Given the description of an element on the screen output the (x, y) to click on. 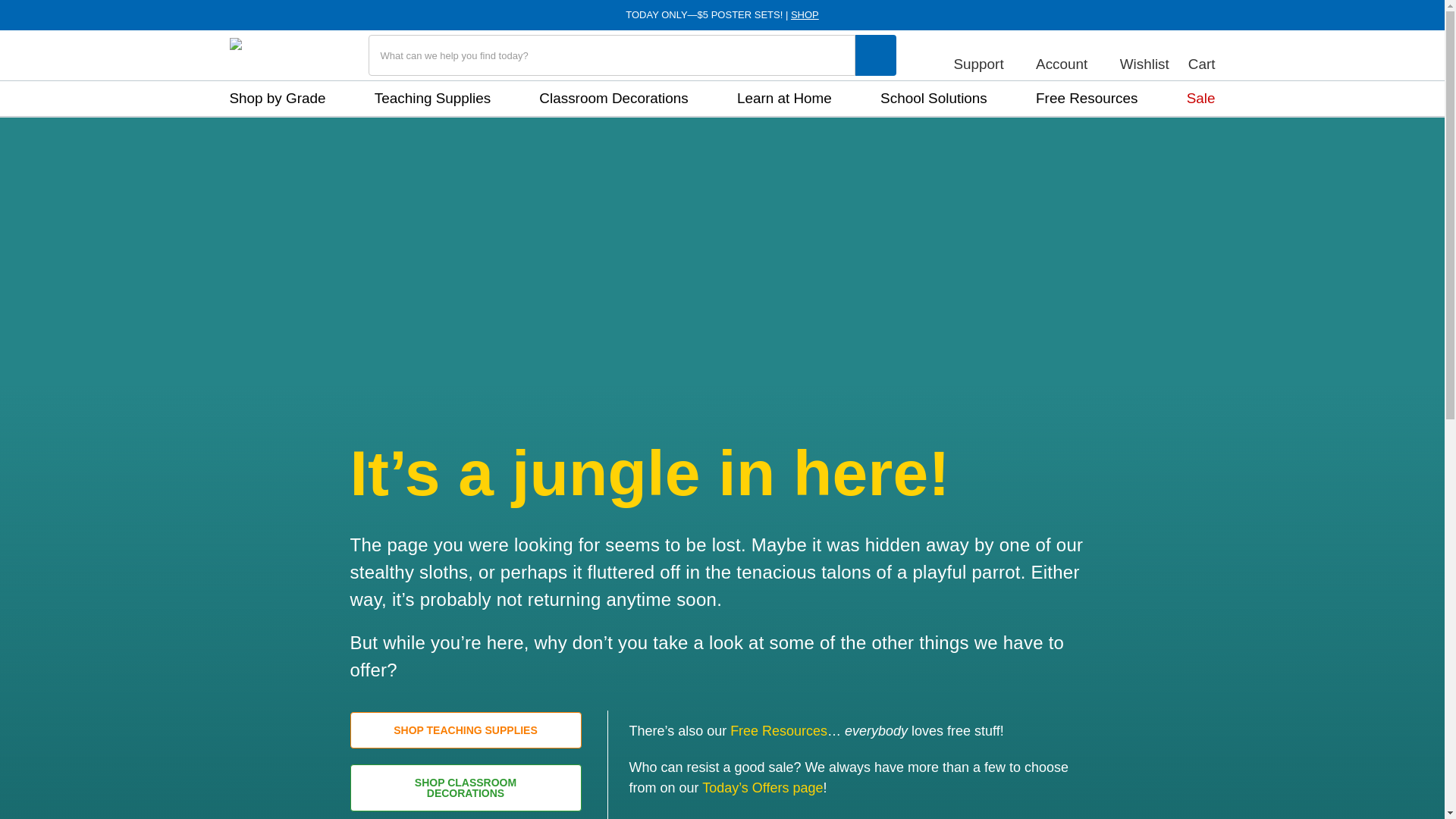
SHOP (804, 14)
Support (984, 55)
search (875, 55)
search (876, 55)
Teaching Supplies (432, 98)
Carson Dellosa Education (269, 52)
Shop by Grade (276, 98)
Account (1067, 55)
Carson Dellosa Education (269, 54)
Wishlist (1144, 55)
